Given the description of an element on the screen output the (x, y) to click on. 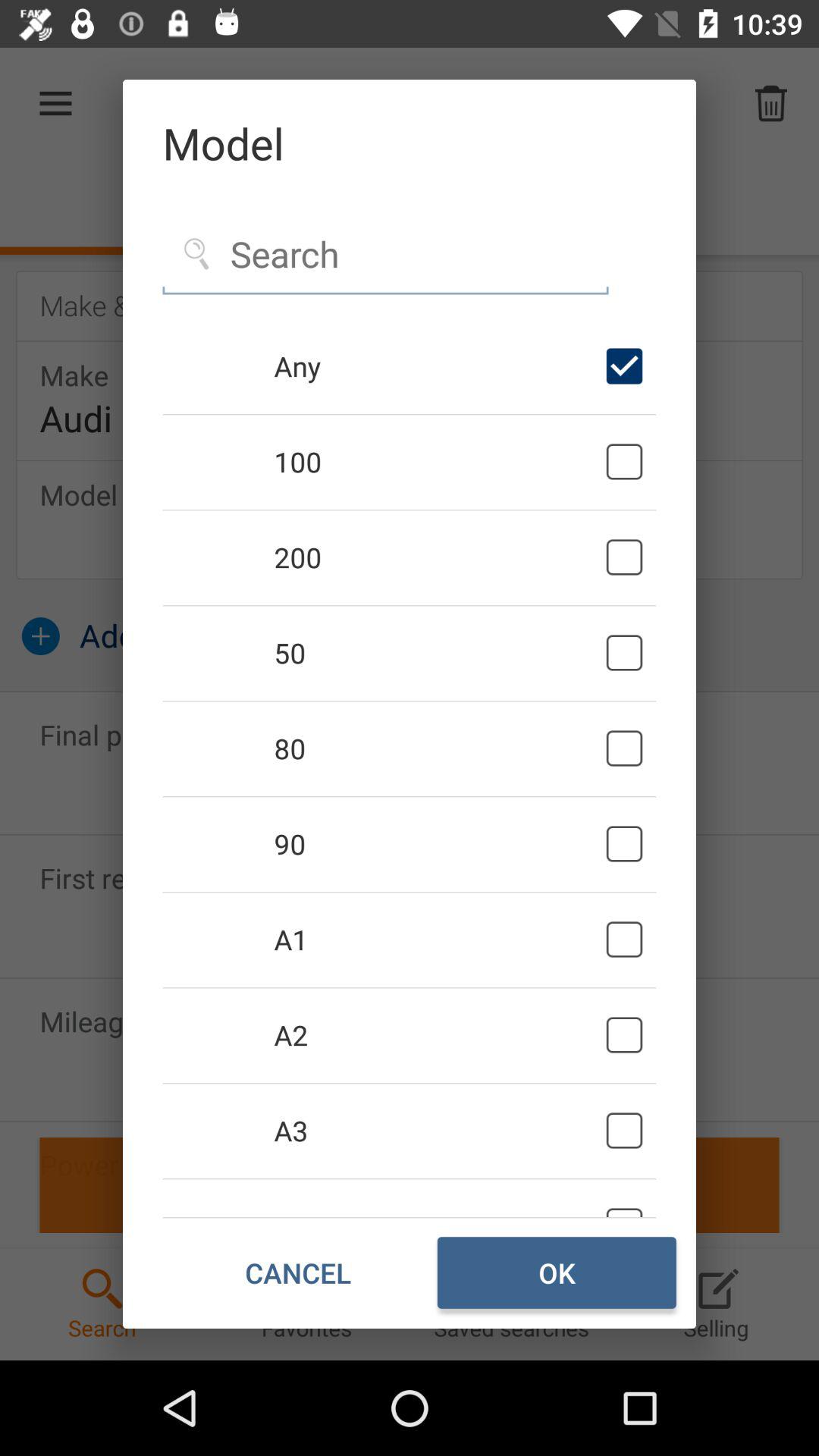
jump until the a4 item (437, 1197)
